Given the description of an element on the screen output the (x, y) to click on. 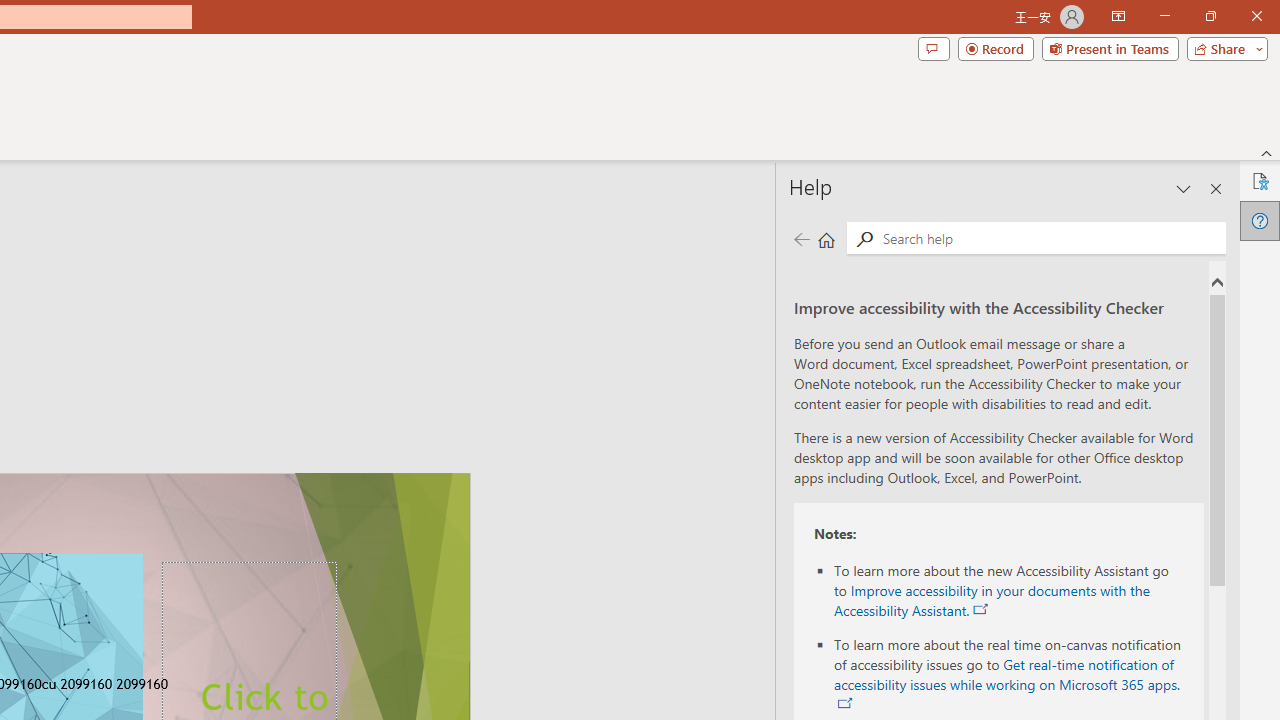
openinnewwindow (845, 704)
